Given the description of an element on the screen output the (x, y) to click on. 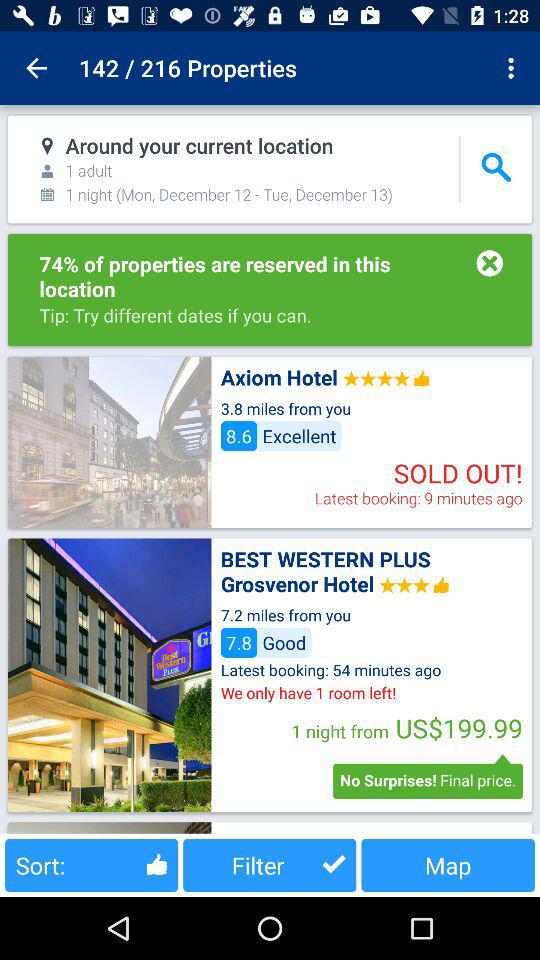
image for hotel (109, 674)
